Given the description of an element on the screen output the (x, y) to click on. 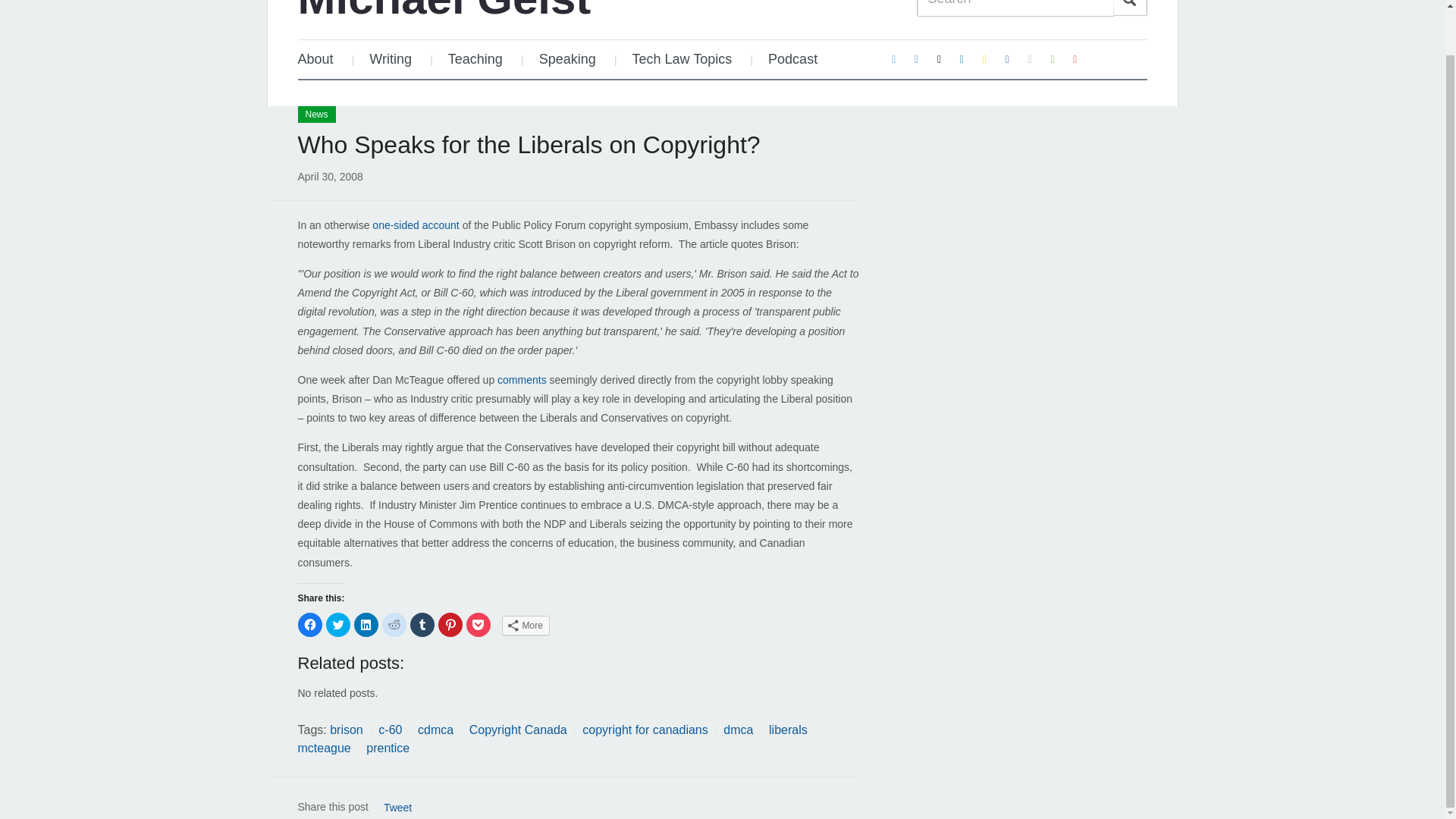
Default Label (1052, 59)
mail (939, 59)
Click to share on Twitter (338, 624)
Default Label (1029, 59)
Michael Geist (444, 11)
Tech Law Topics (682, 59)
twitter (893, 59)
Podcast (792, 59)
Writing (389, 59)
Speaking (567, 59)
